Given the description of an element on the screen output the (x, y) to click on. 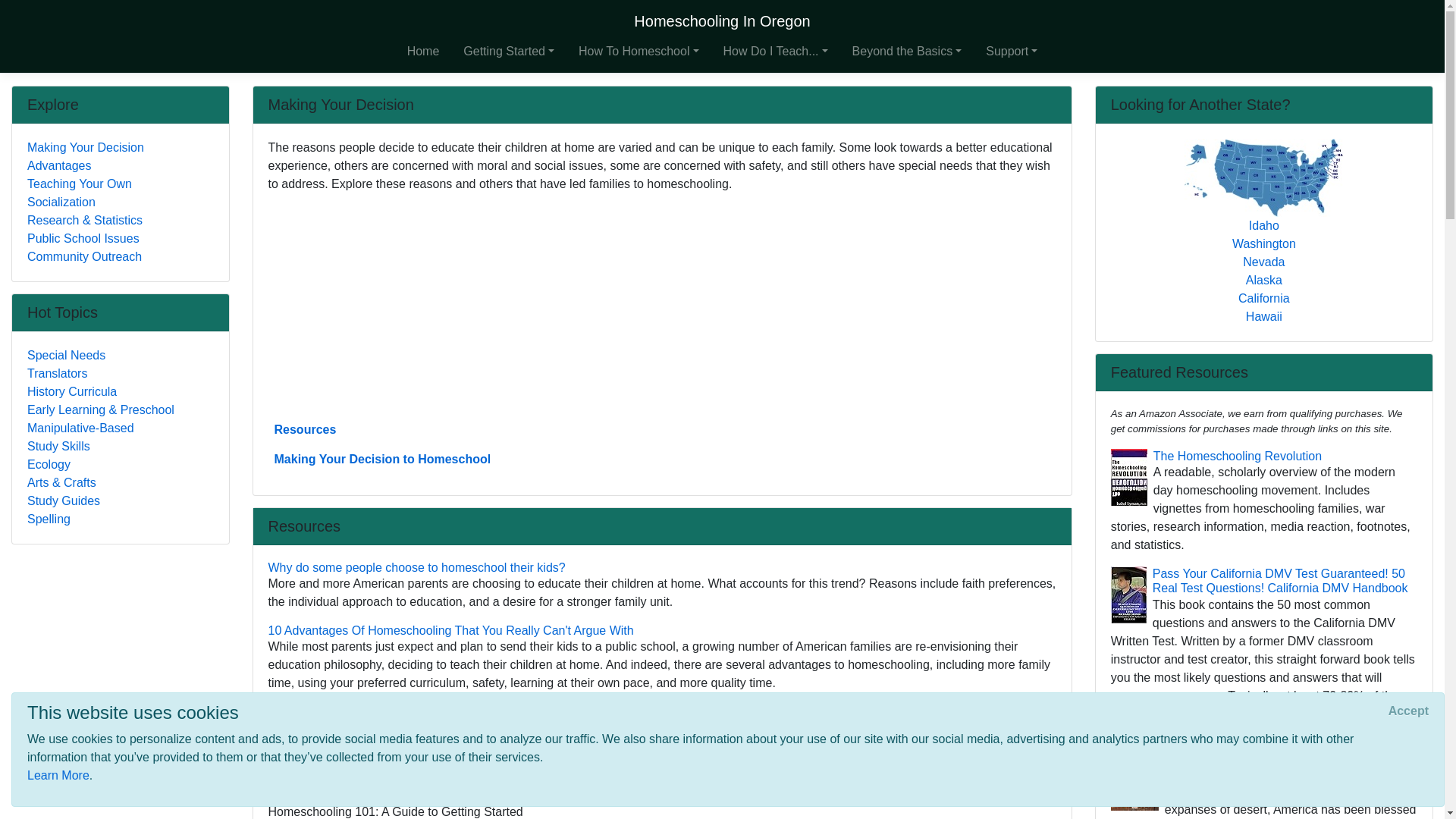
Home (423, 51)
Getting Started (508, 51)
Homeschooling In Oregon (721, 20)
How To Homeschool (638, 51)
Beyond the Basics (906, 51)
How Do I Teach... (775, 51)
